Given the description of an element on the screen output the (x, y) to click on. 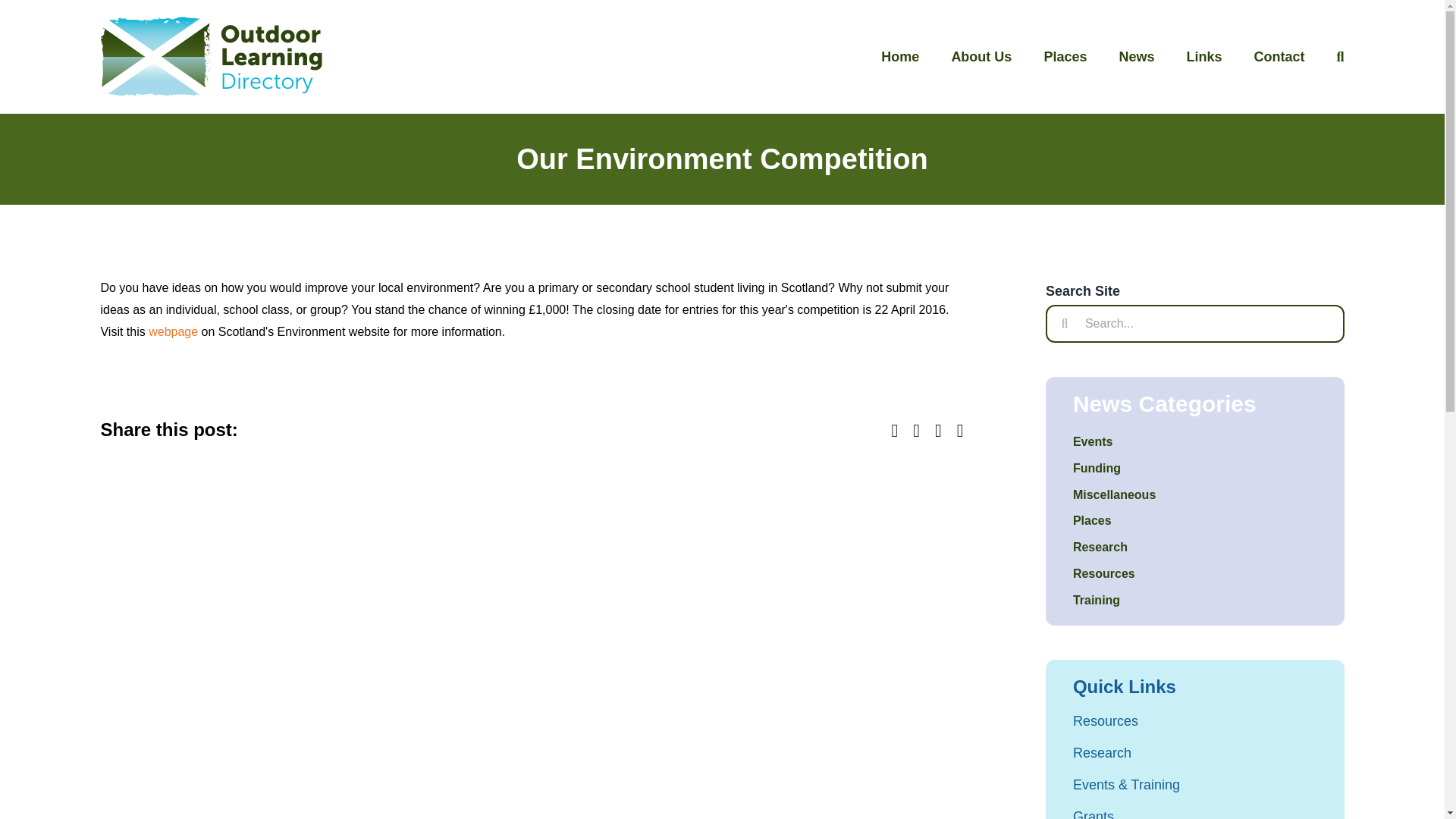
News (1136, 56)
Contact (1278, 56)
Resources (1195, 574)
Email (960, 430)
LinkedIn (938, 430)
About Us (980, 56)
Twitter (916, 430)
Events (1195, 442)
webpage (174, 331)
Training (1195, 600)
Research (1195, 753)
Grants (1195, 812)
Miscellaneous (1195, 495)
Places (1195, 521)
